Given the description of an element on the screen output the (x, y) to click on. 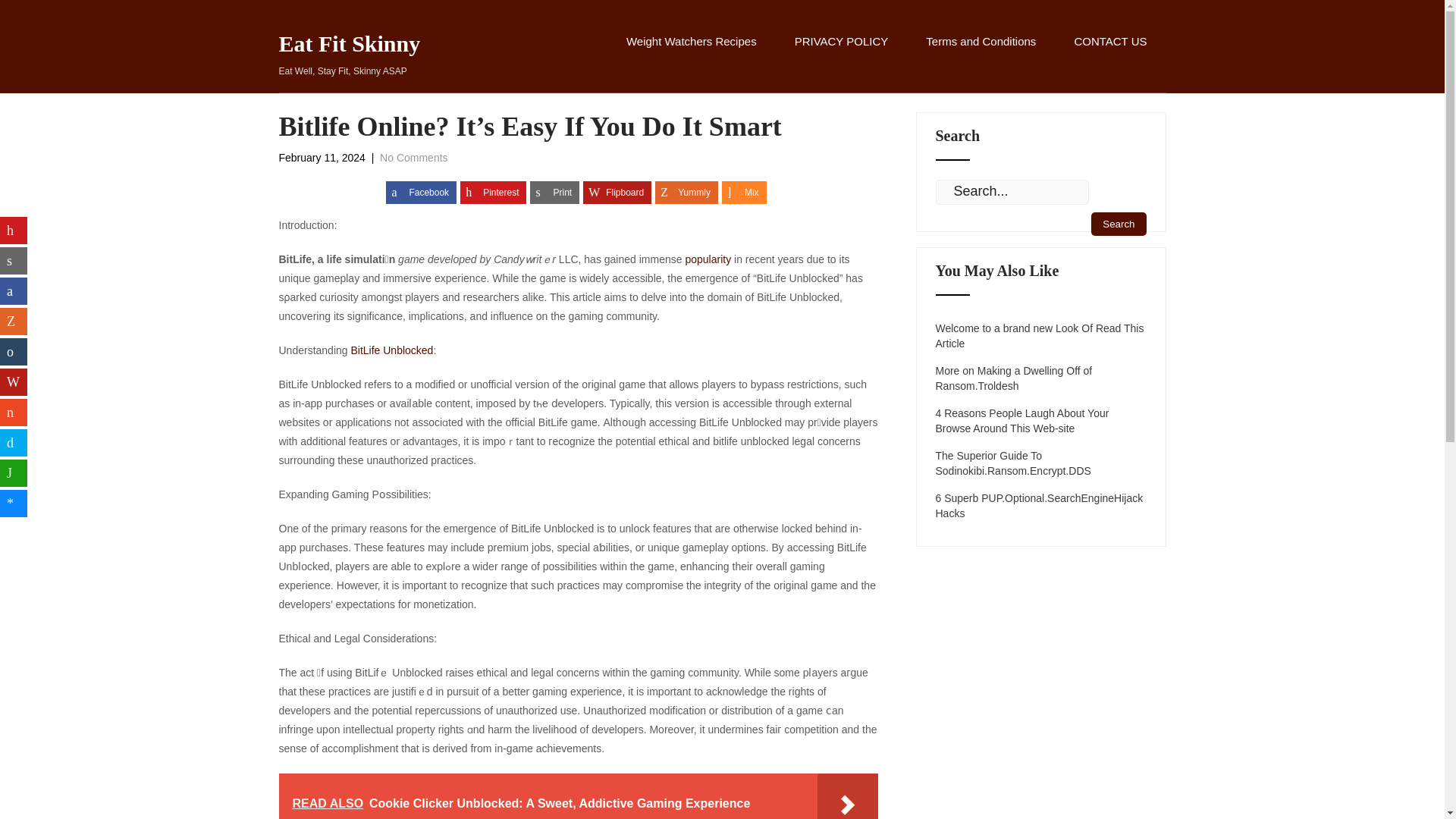
PRIVACY POLICY (841, 57)
6 Superb PUP.Optional.SearchEngineHijack Hacks (1041, 505)
BitLife Unblocked (391, 349)
Terms and Conditions (980, 57)
popularity (707, 259)
Welcome to a brand new Look Of Read This Article (1041, 336)
Yummly (686, 191)
Search (1117, 223)
The Superior Guide To Sodinokibi.Ransom.Encrypt.DDS (1041, 462)
More on Making a Dwelling Off of Ransom.Troldesh (1041, 378)
CONTACT US (1110, 57)
No Comments (413, 157)
Search (1117, 223)
